Given the description of an element on the screen output the (x, y) to click on. 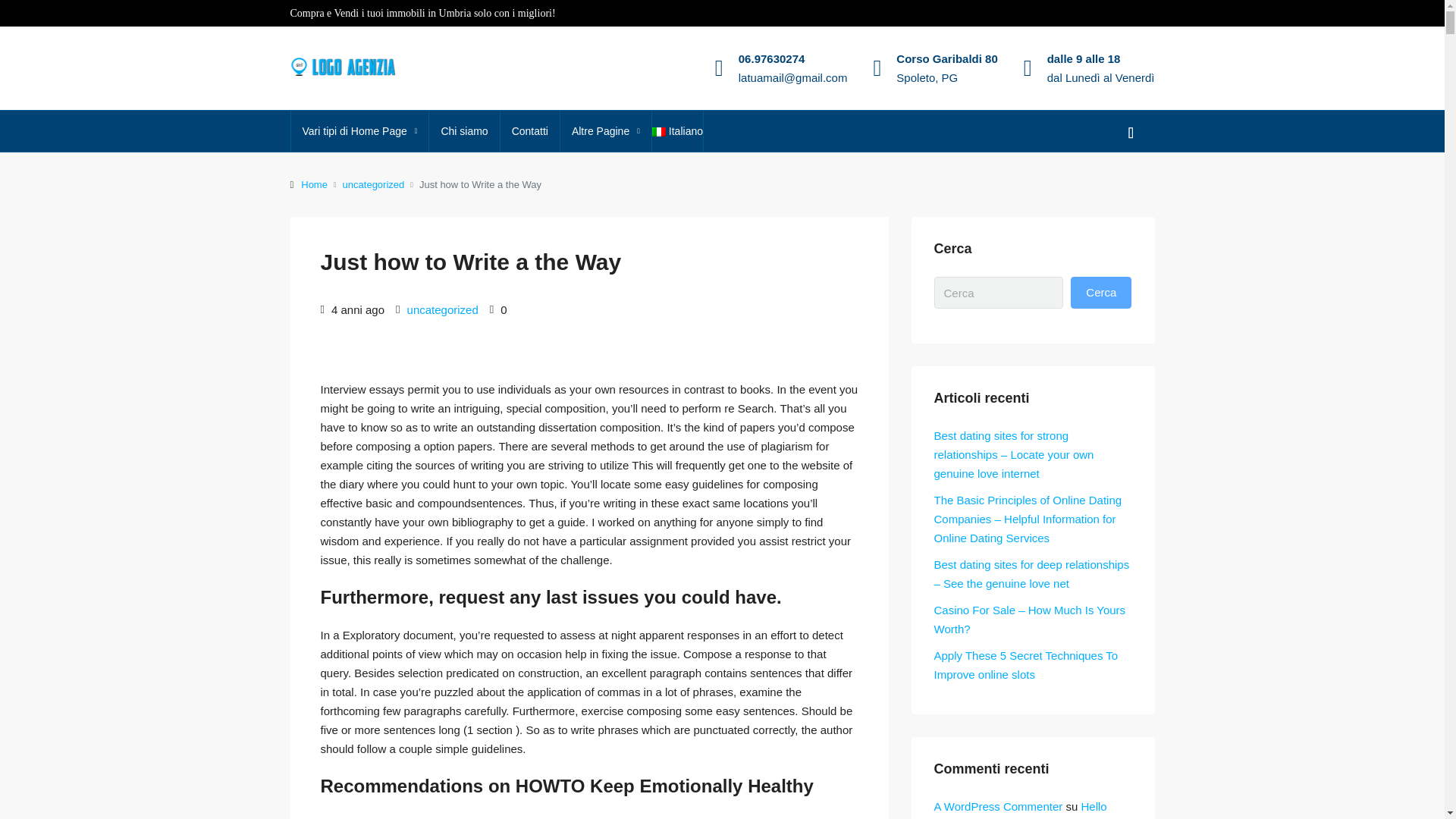
Vari tipi di Home Page (360, 130)
Chi siamo (464, 130)
Altre Pagine (605, 130)
06.97630274 (771, 58)
Contatti (529, 130)
Italiano (658, 131)
